Given the description of an element on the screen output the (x, y) to click on. 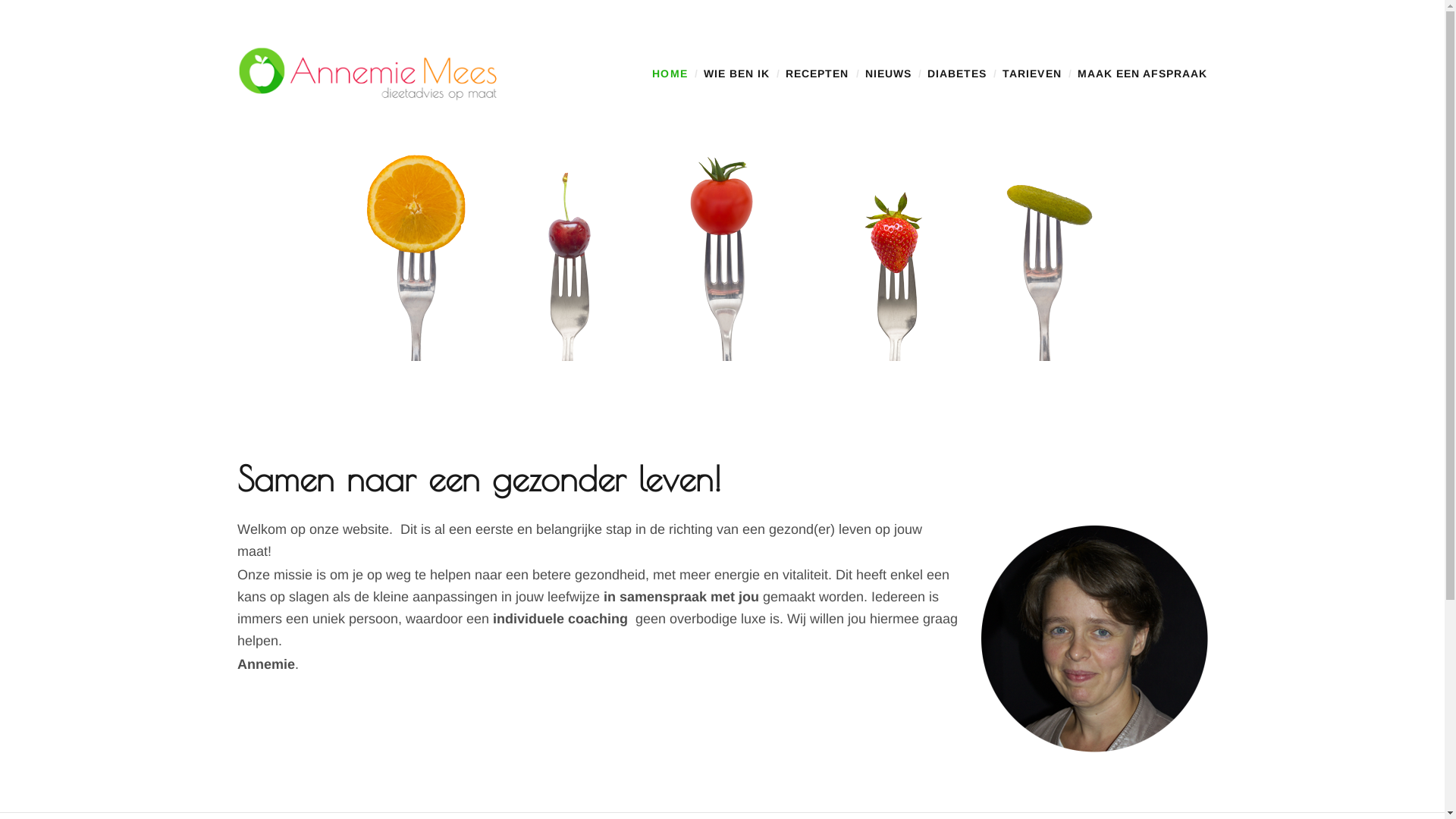
WIE BEN IK Element type: text (736, 73)
NIEUWS Element type: text (888, 73)
HOME Element type: text (669, 73)
TARIEVEN Element type: text (1031, 73)
RECEPTEN Element type: text (816, 73)
DIABETES Element type: text (956, 73)
MAAK EEN AFSPRAAK Element type: text (1142, 73)
ANNEMIE MEES Element type: text (246, 221)
